Given the description of an element on the screen output the (x, y) to click on. 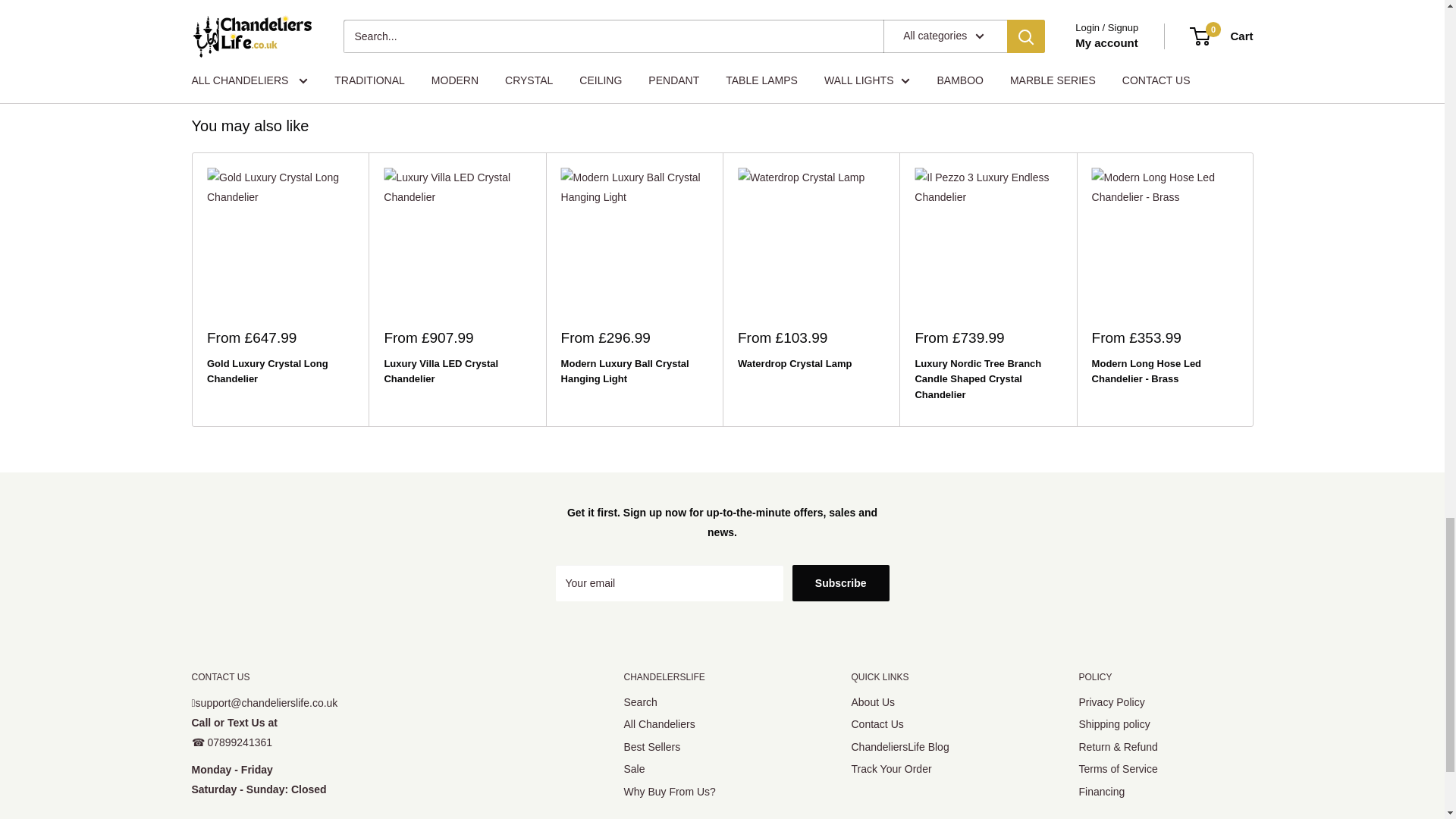
Payment methods (1091, 60)
Shipping policy (253, 60)
Refund Policy (532, 60)
